Given the description of an element on the screen output the (x, y) to click on. 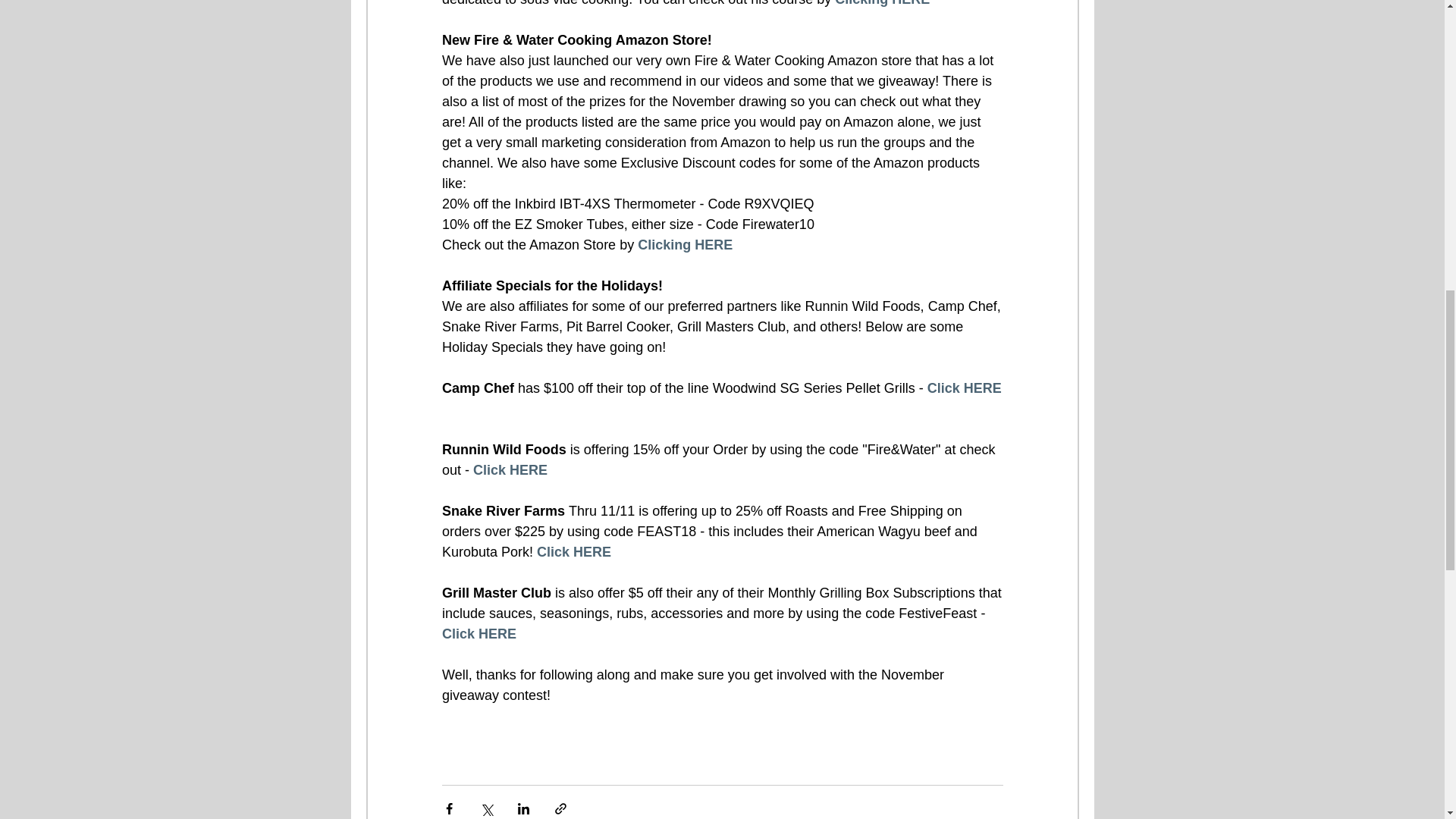
Click HERE (478, 633)
Click HERE (963, 387)
Clicking HERE (684, 244)
Click HERE (574, 551)
Click HERE (510, 469)
Clicking HERE (882, 3)
